Given the description of an element on the screen output the (x, y) to click on. 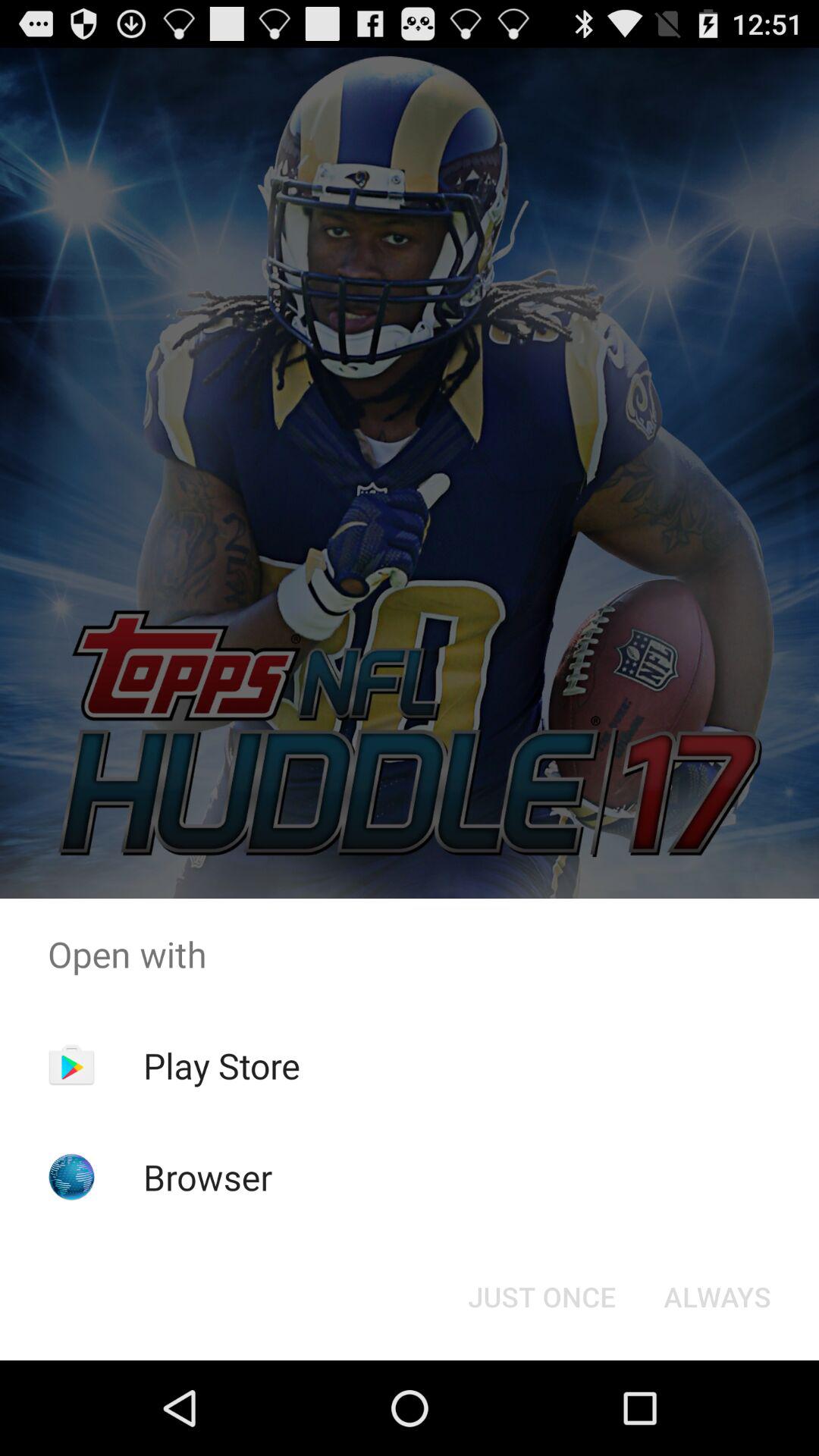
scroll to the always (717, 1296)
